Given the description of an element on the screen output the (x, y) to click on. 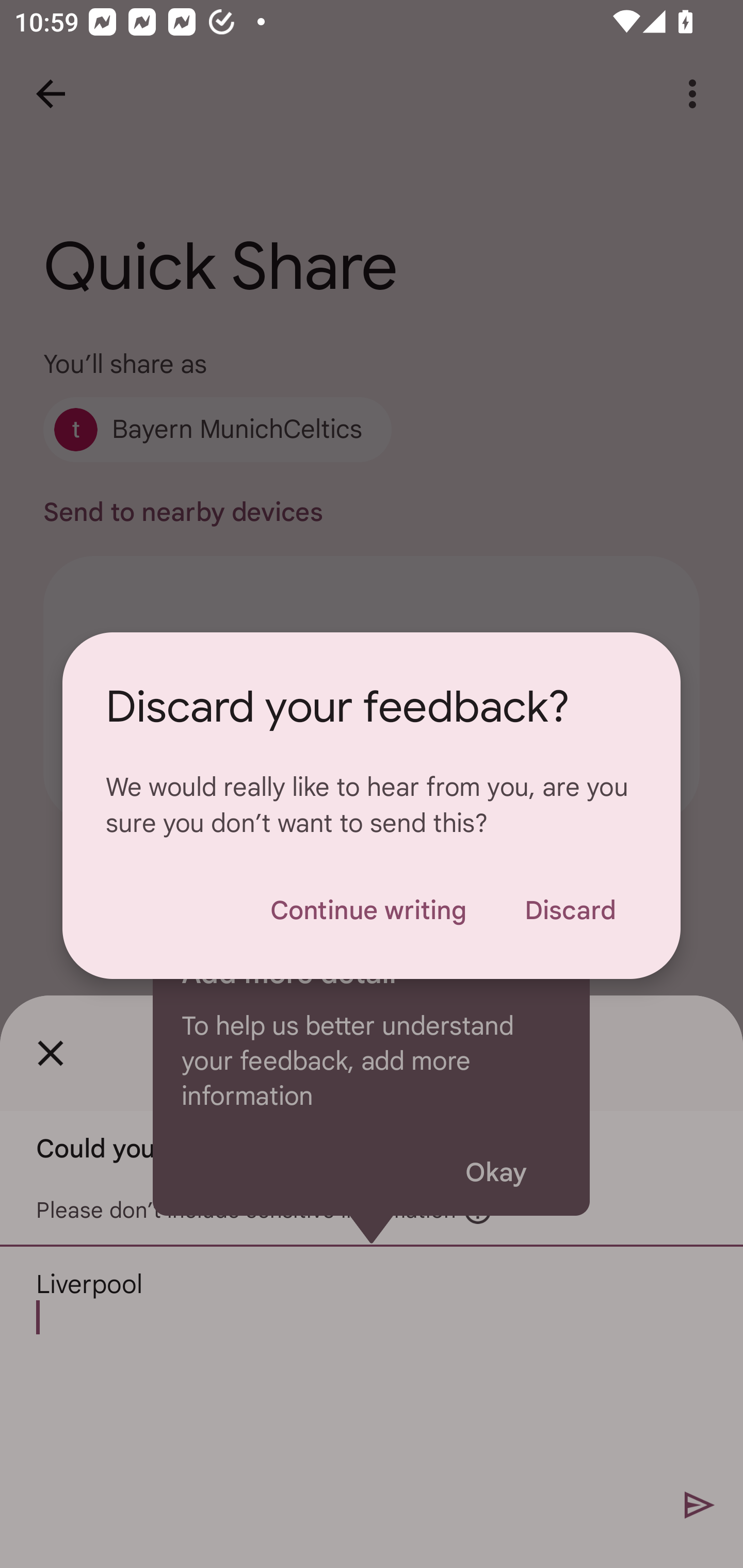
Continue writing (368, 910)
Discard (569, 910)
